Given the description of an element on the screen output the (x, y) to click on. 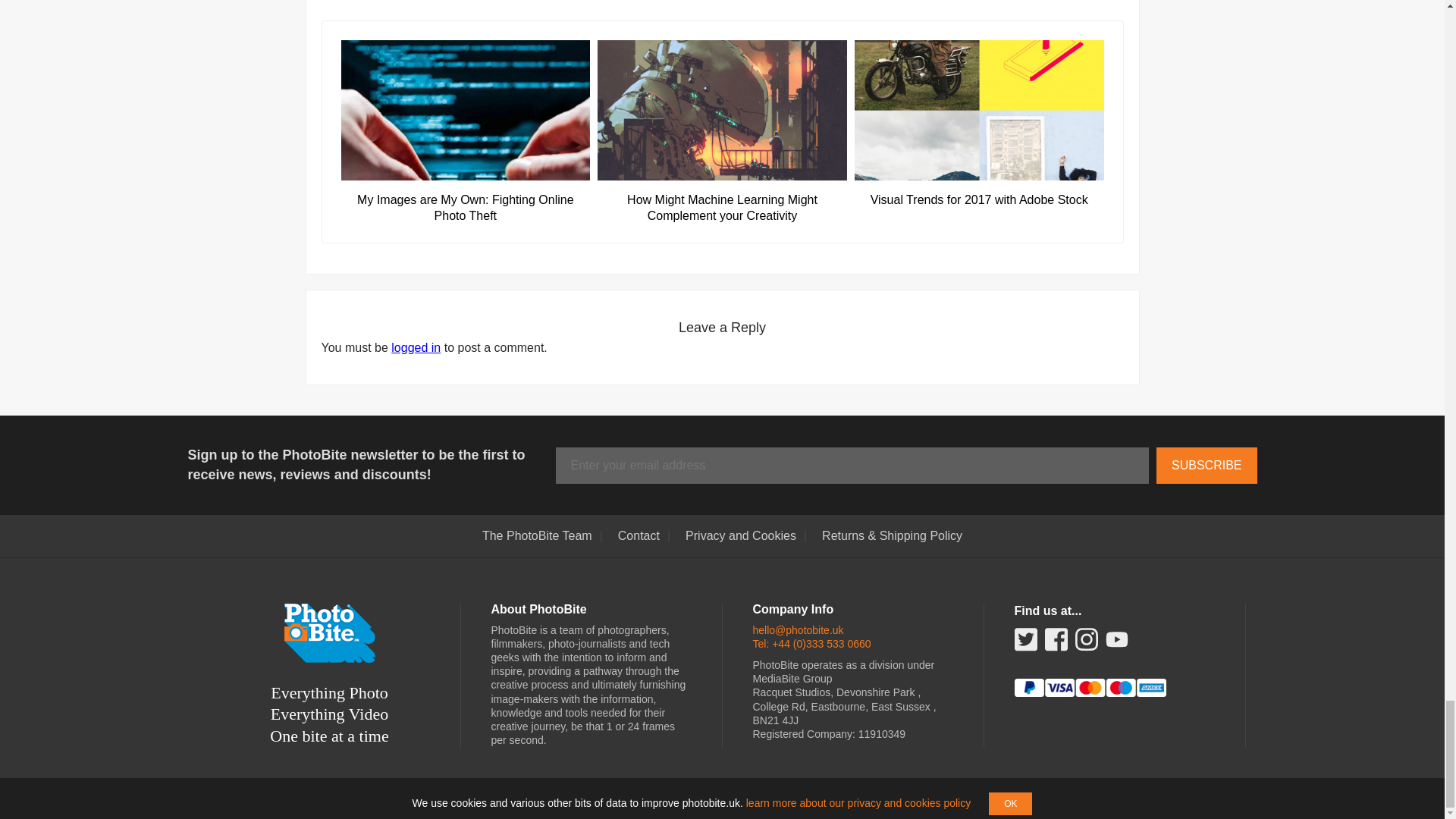
Find us on Instagram (1086, 644)
Visual Trends for 2017 with Adobe Stock (978, 192)
Find us on YouTube (1116, 640)
Find us on Twitter (1025, 644)
How Might Machine Learning Might Complement your Creativity (721, 200)
My Images are My Own: Fighting Online Photo Theft (465, 200)
Find us on Facebook (1056, 644)
